Given the description of an element on the screen output the (x, y) to click on. 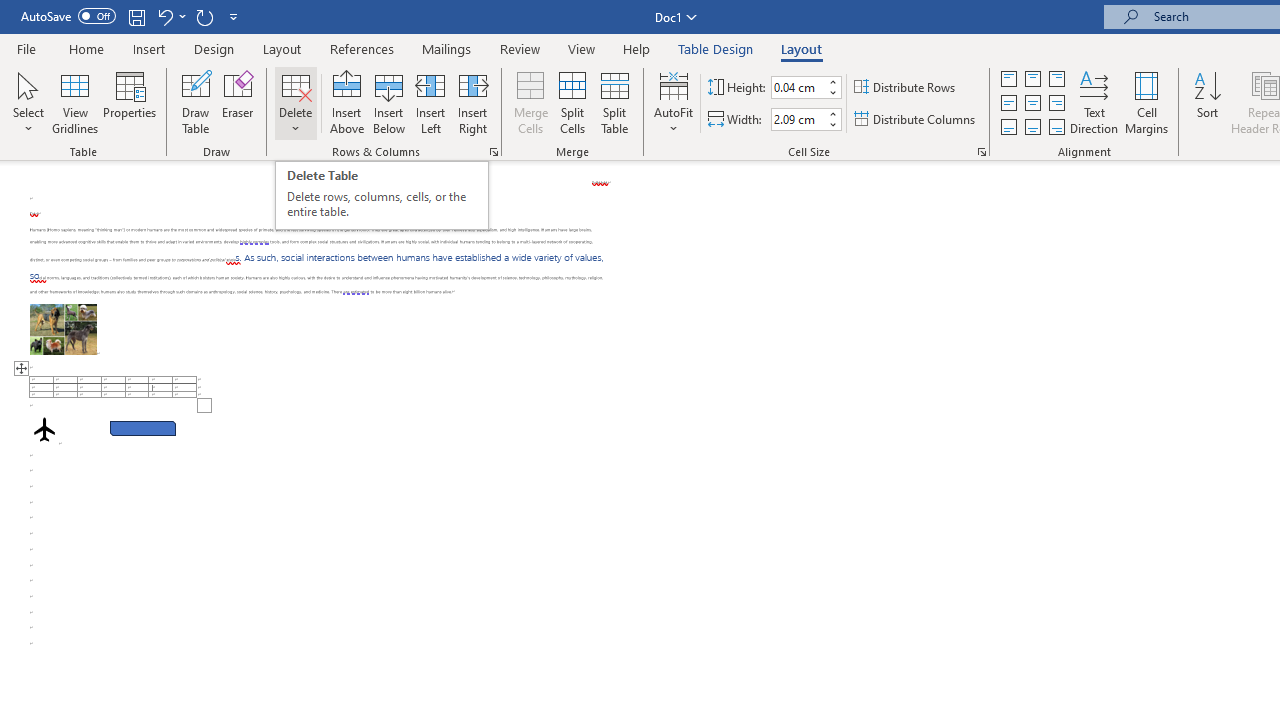
Insert Cells... (493, 151)
Align Bottom Right (1056, 126)
Merge Cells (530, 102)
More (832, 113)
Distribute Rows (906, 87)
Align Bottom Center (1032, 126)
